Given the description of an element on the screen output the (x, y) to click on. 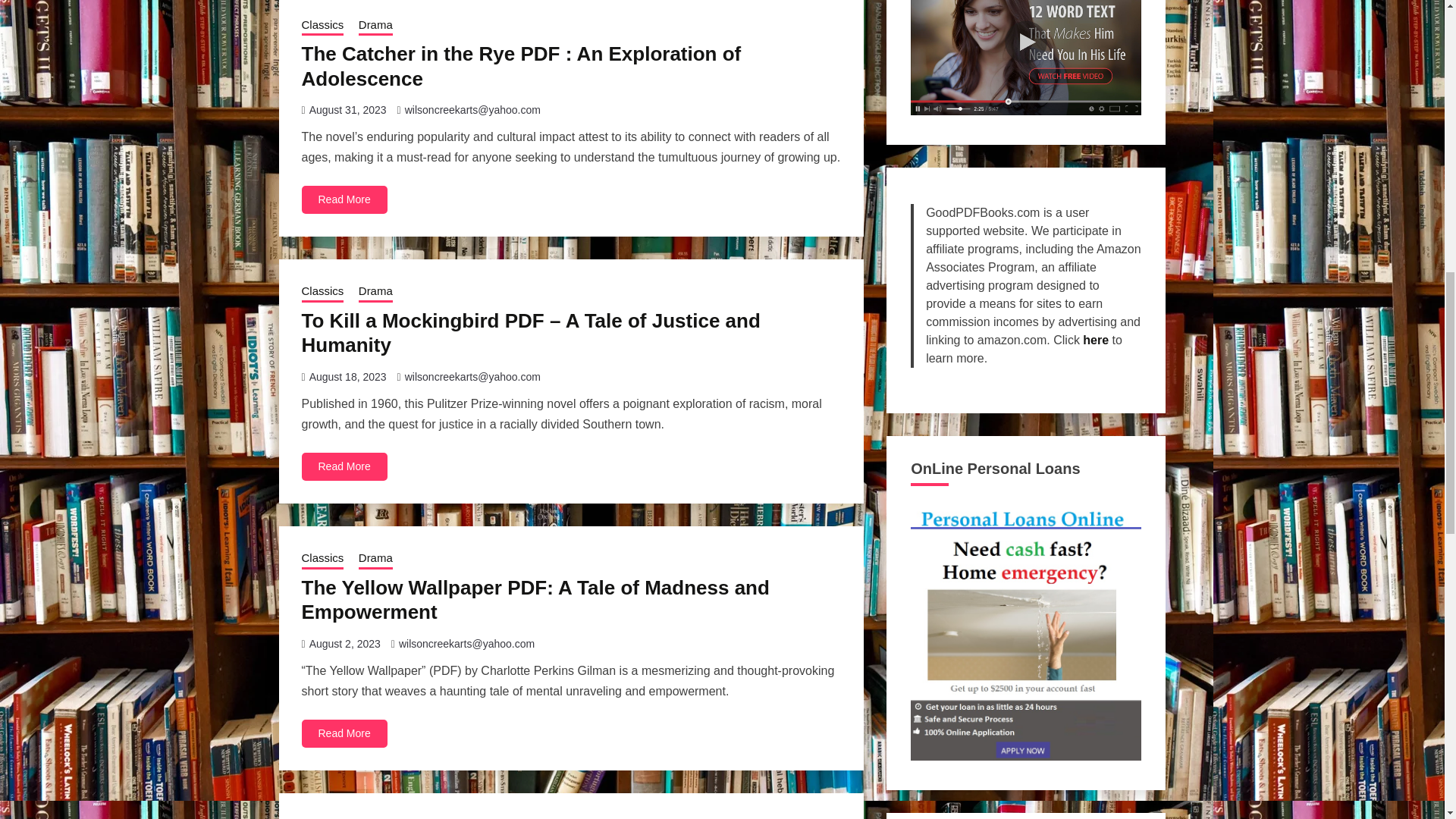
August 18, 2023 (347, 377)
The Catcher in the Rye PDF : An Exploration of Adolescence (521, 66)
August 2, 2023 (344, 644)
Classics (322, 292)
Read More (344, 199)
Classics (322, 26)
August 31, 2023 (347, 110)
Read More (344, 733)
Drama (375, 292)
Classics (322, 817)
Classics (322, 559)
Self Improvement (403, 817)
Read More (344, 466)
The Yellow Wallpaper PDF: A Tale of Madness and Empowerment (535, 600)
Drama (375, 26)
